Given the description of an element on the screen output the (x, y) to click on. 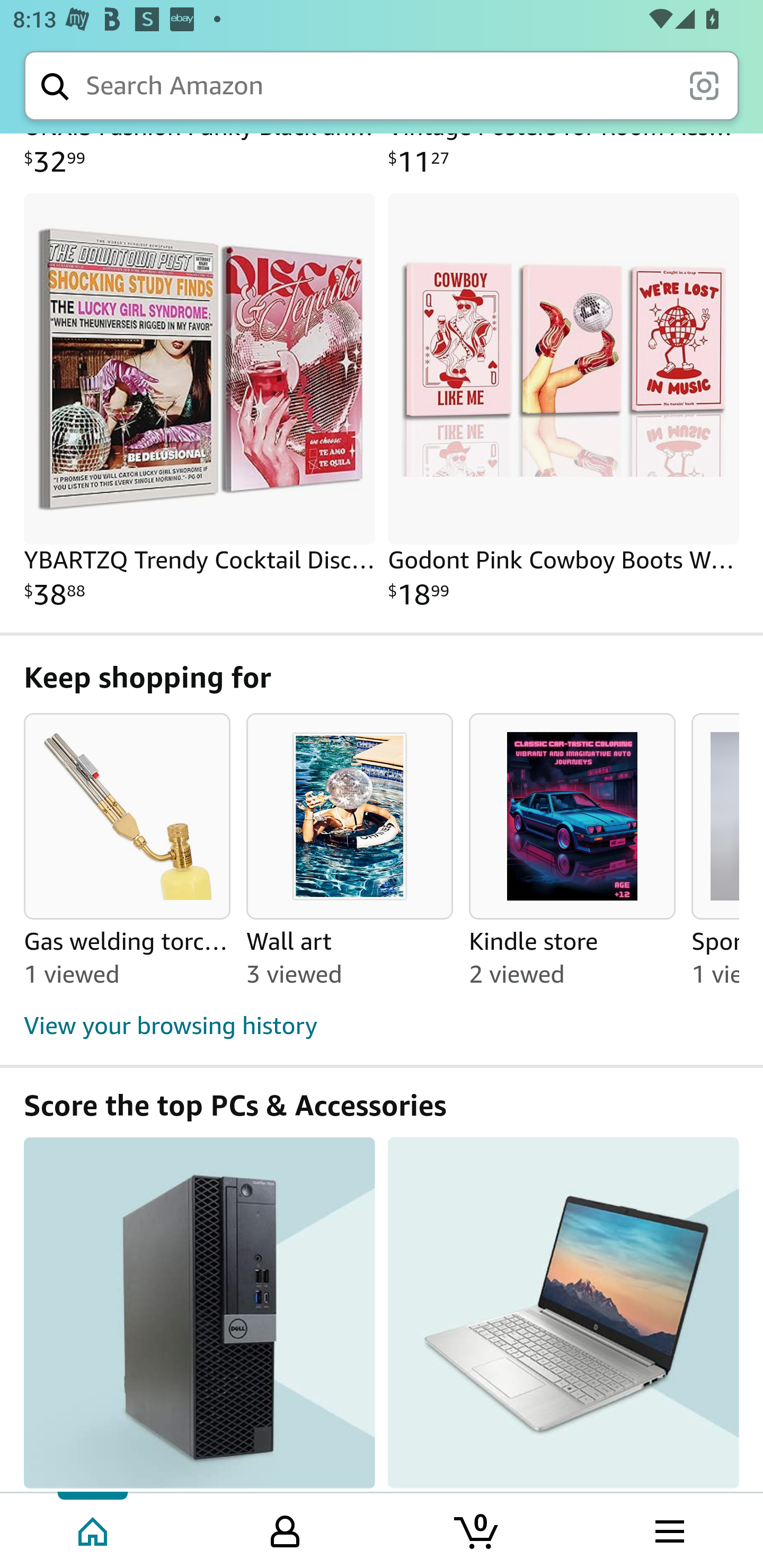
Search Search Search Amazon scan it (381, 85)
scan it (704, 85)
Product link Gas welding torches 1 viewed (126, 959)
Product link Wall art 3 viewed (349, 959)
Product link Kindle store 2 viewed (572, 959)
View your browsing history (381, 1026)
Desktops Desktops Desktops (199, 1315)
Laptops Laptops Laptops (563, 1315)
Home Tab 1 of 4 (94, 1529)
Your Amazon.com Tab 2 of 4 (285, 1529)
Cart 0 item Tab 3 of 4 0 (477, 1529)
Browse menu Tab 4 of 4 (668, 1529)
